Given the description of an element on the screen output the (x, y) to click on. 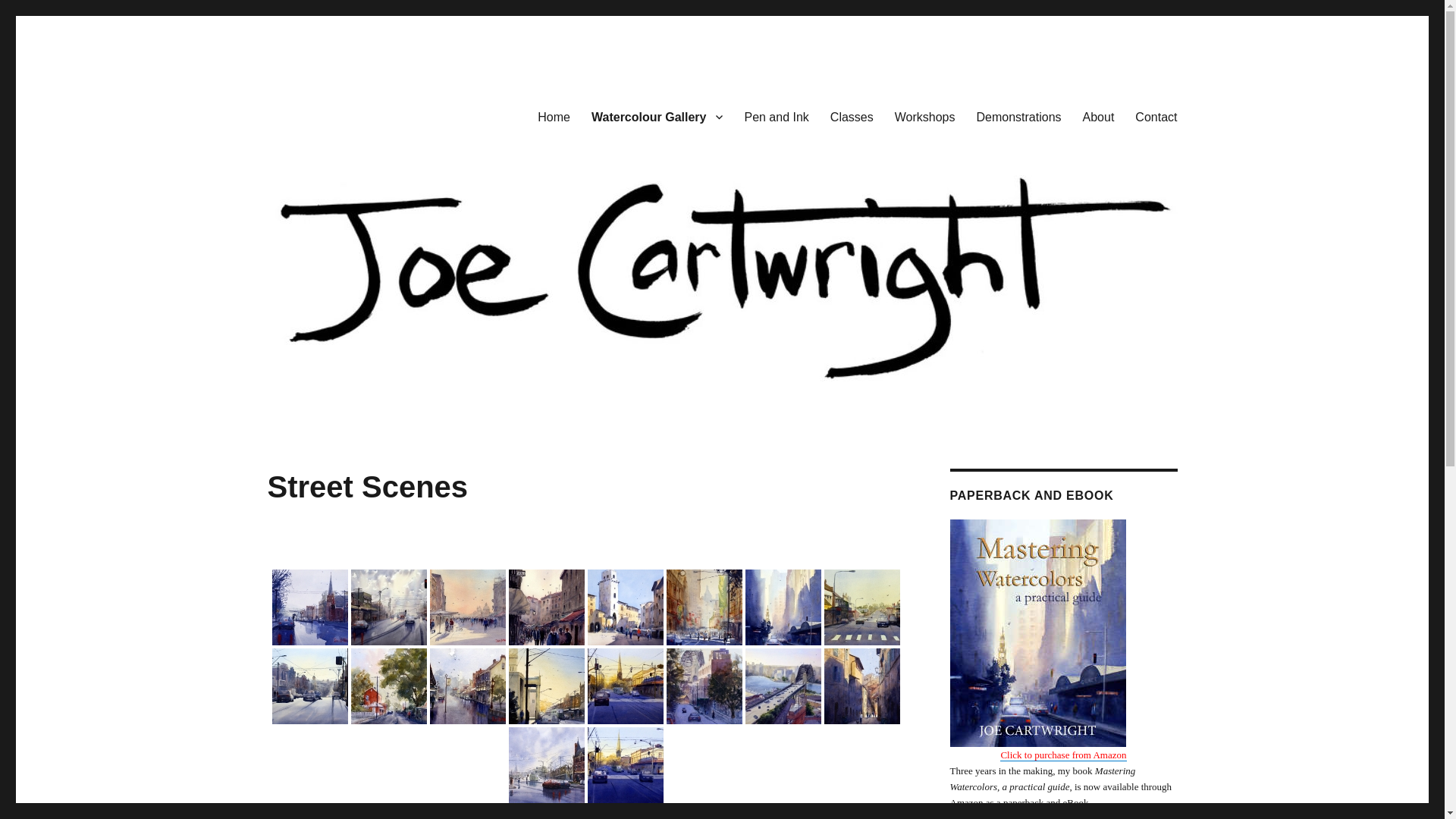
Home Element type: text (553, 116)
dsc01151 Element type: hover (703, 686)
SONY DSC Element type: hover (388, 686)
venice-via-garibaldi Element type: hover (467, 607)
SONY DSC Element type: hover (545, 686)
SONY DSC Element type: hover (309, 607)
Joe Cartwright watercolour artist Element type: text (432, 92)
Workshops Element type: text (925, 116)
SONY DSC Element type: hover (545, 765)
Contact Element type: text (1155, 116)
SONY DSC Element type: hover (703, 607)
Click to purchase from Amazon Element type: text (1063, 754)
Classes Element type: text (851, 116)
Demonstrations Element type: text (1019, 116)
Pen and Ink Element type: text (776, 116)
SONY DSC Element type: hover (624, 765)
About Element type: text (1098, 116)
SONY DSC Element type: hover (388, 607)
SONY DSC Element type: hover (309, 686)
venetian-street Element type: hover (545, 607)
Watercolour Gallery Element type: text (656, 116)
SONY DSC Element type: hover (782, 607)
SONY DSC Element type: hover (624, 686)
SONY DSC Element type: hover (861, 607)
SONY DSC Element type: hover (467, 686)
SONY DSC Element type: hover (861, 686)
SONY DSC Element type: hover (624, 607)
